Given the description of an element on the screen output the (x, y) to click on. 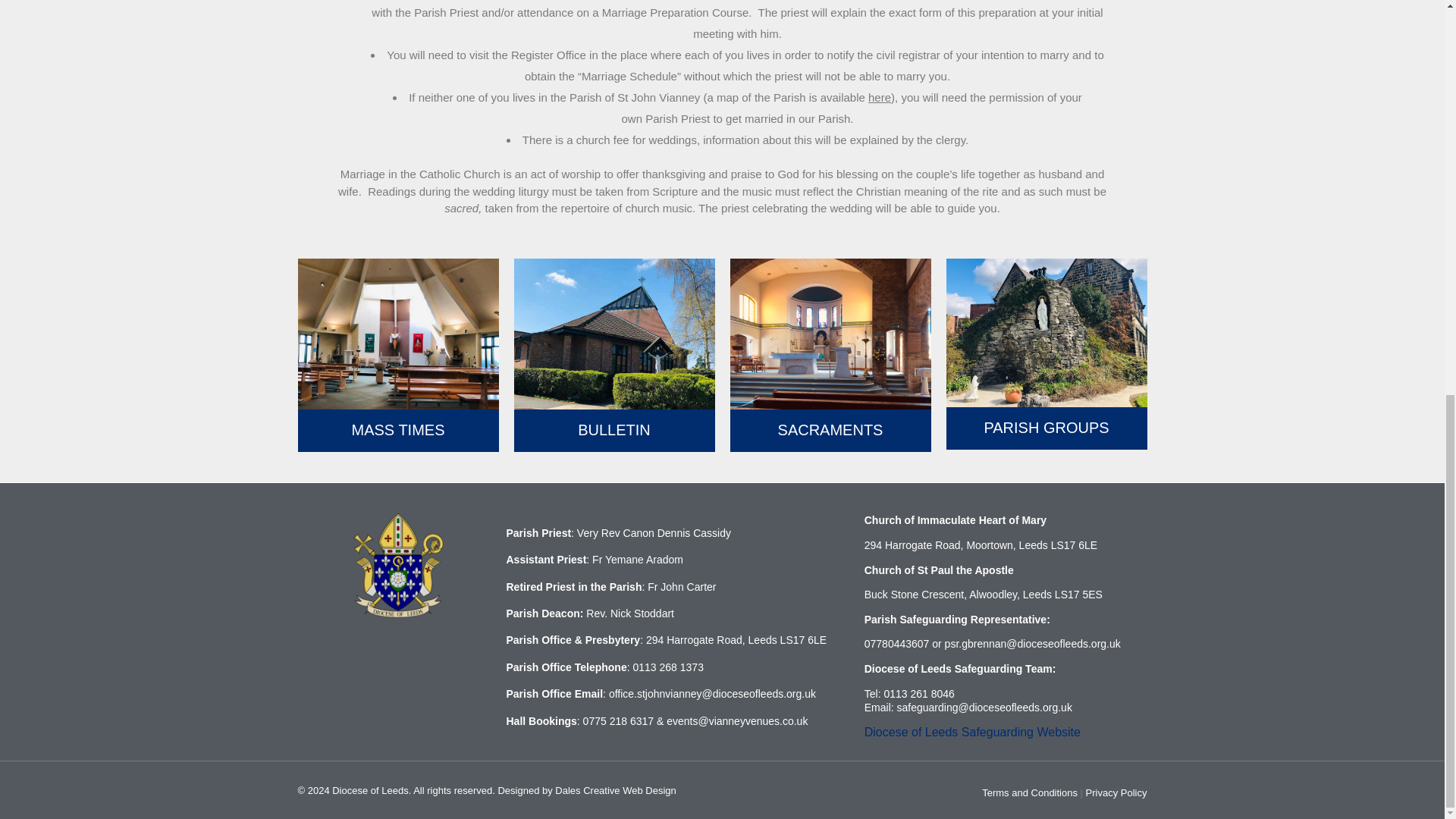
SACRAMENTS (830, 429)
PARISH GROUPS (1046, 427)
MASS TIMES (398, 429)
BULLETIN (614, 429)
